Given the description of an element on the screen output the (x, y) to click on. 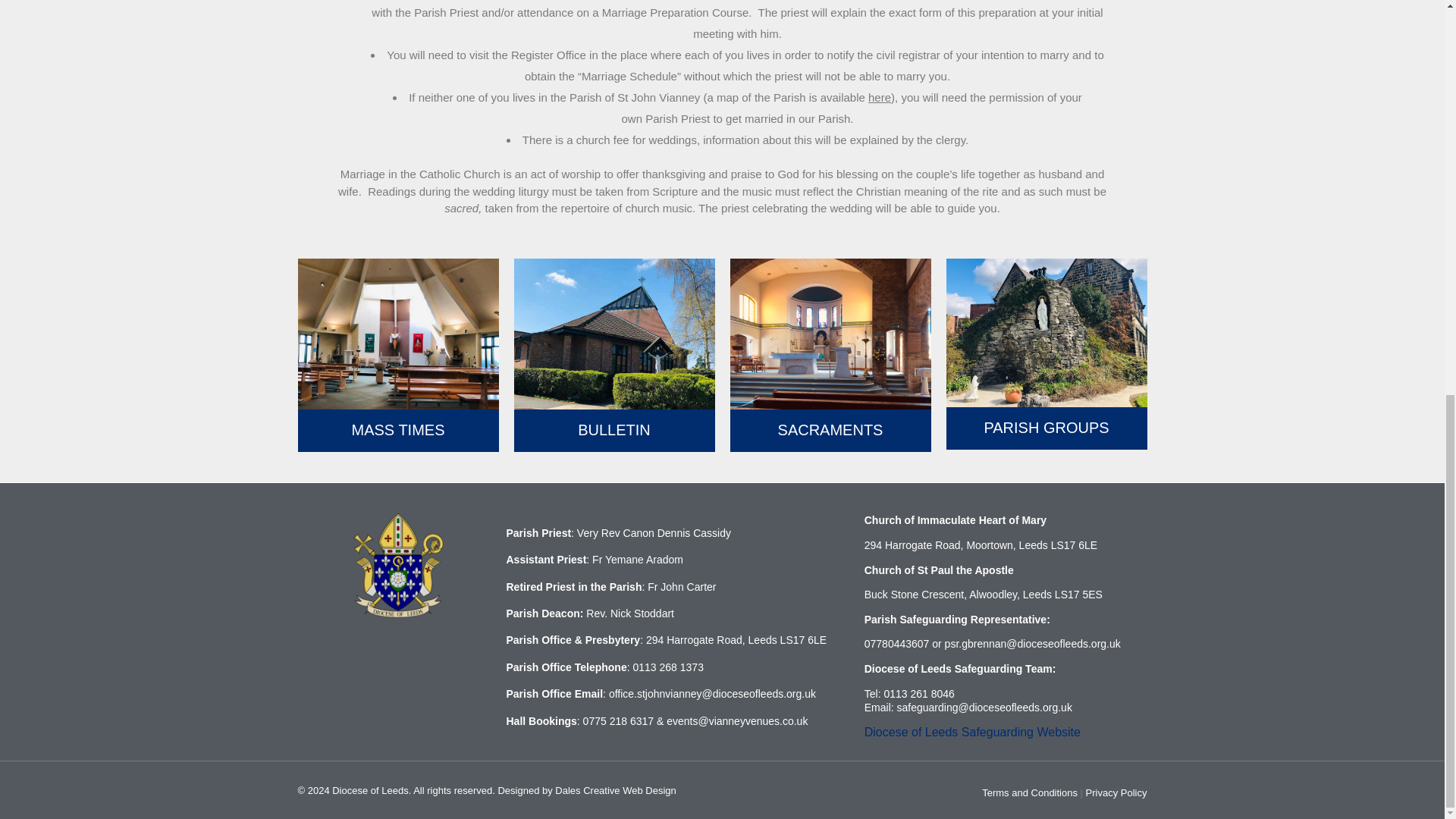
SACRAMENTS (830, 429)
PARISH GROUPS (1046, 427)
MASS TIMES (398, 429)
BULLETIN (614, 429)
